Given the description of an element on the screen output the (x, y) to click on. 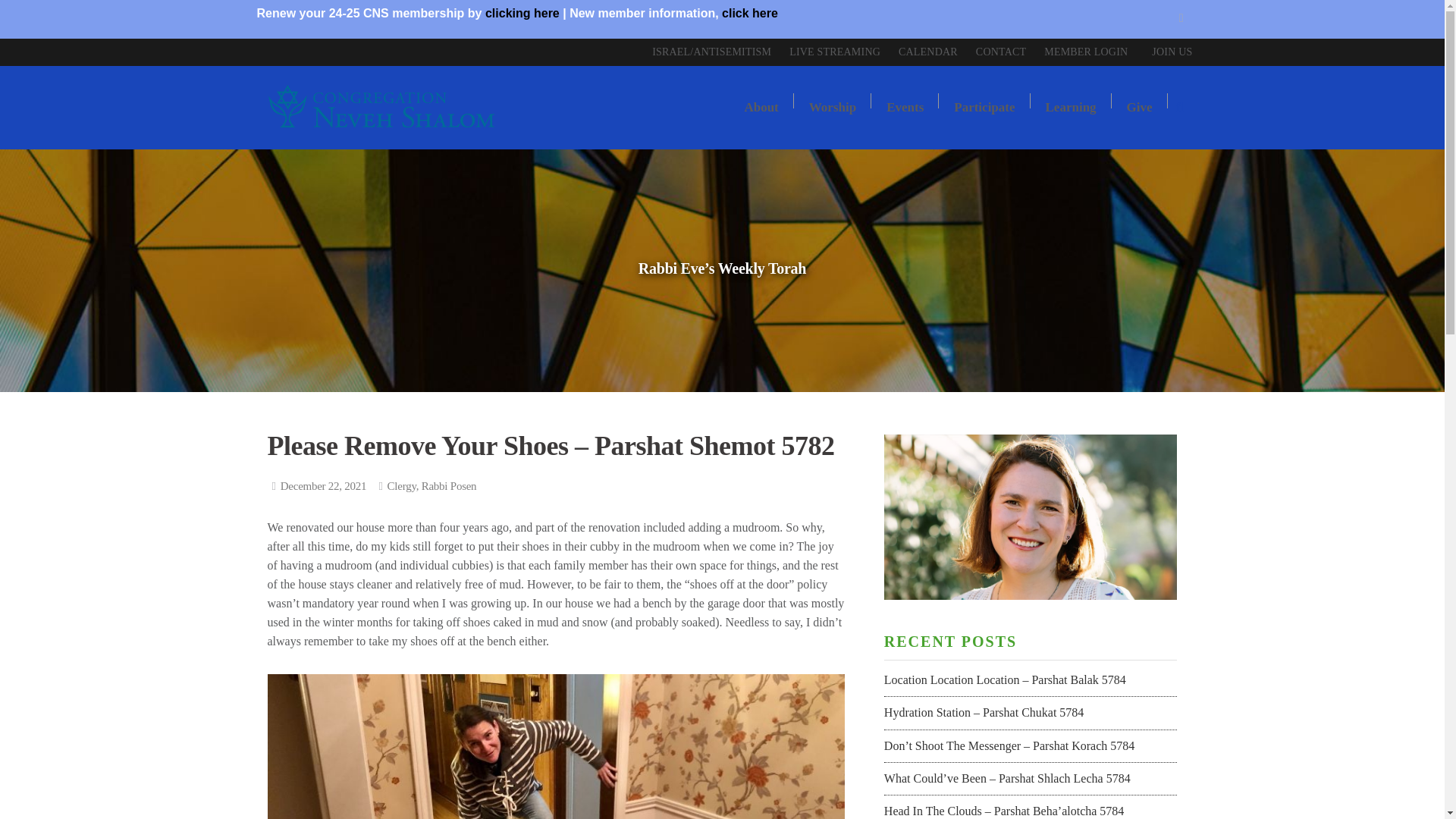
clicking here (521, 12)
click here (749, 12)
